Given the description of an element on the screen output the (x, y) to click on. 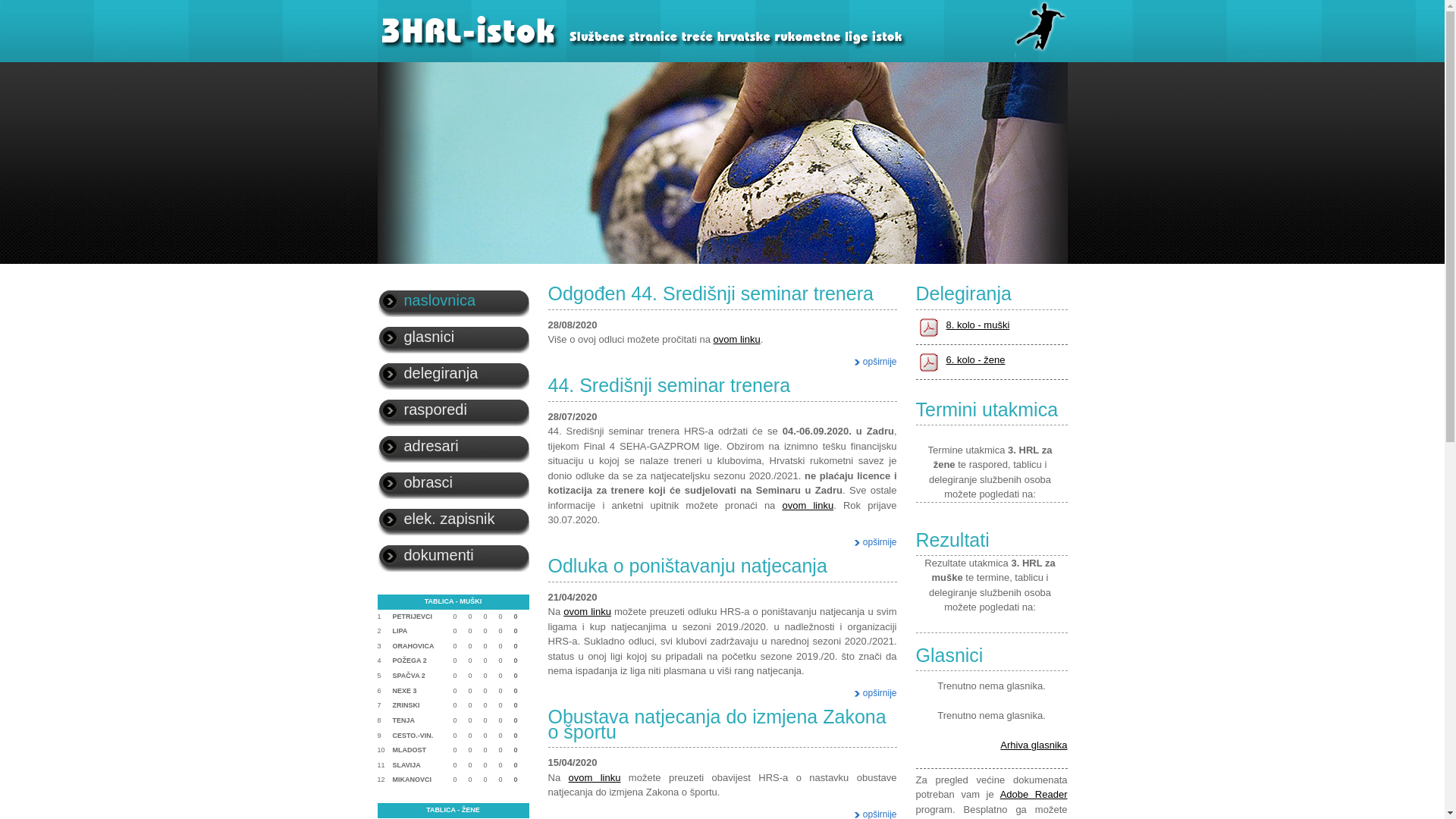
PDF Element type: hover (928, 325)
Adobe Reader Element type: text (1033, 794)
Arhiva glasnika Element type: text (1033, 744)
delegiranja Element type: text (453, 373)
ovom linku Element type: text (587, 611)
ovom linku Element type: text (735, 339)
dokumenti Element type: text (453, 555)
ovom linku Element type: text (808, 504)
ovom linku Element type: text (594, 777)
glasnici Element type: text (453, 336)
naslovnica Element type: text (453, 300)
elek. zapisnik Element type: text (453, 518)
https://hrs.hr/natjecanje/?natjecanje=278 Element type: text (989, 451)
adresari Element type: text (453, 446)
rasporedi Element type: text (453, 409)
obrasci Element type: text (453, 482)
PDF Element type: hover (928, 360)
